Given the description of an element on the screen output the (x, y) to click on. 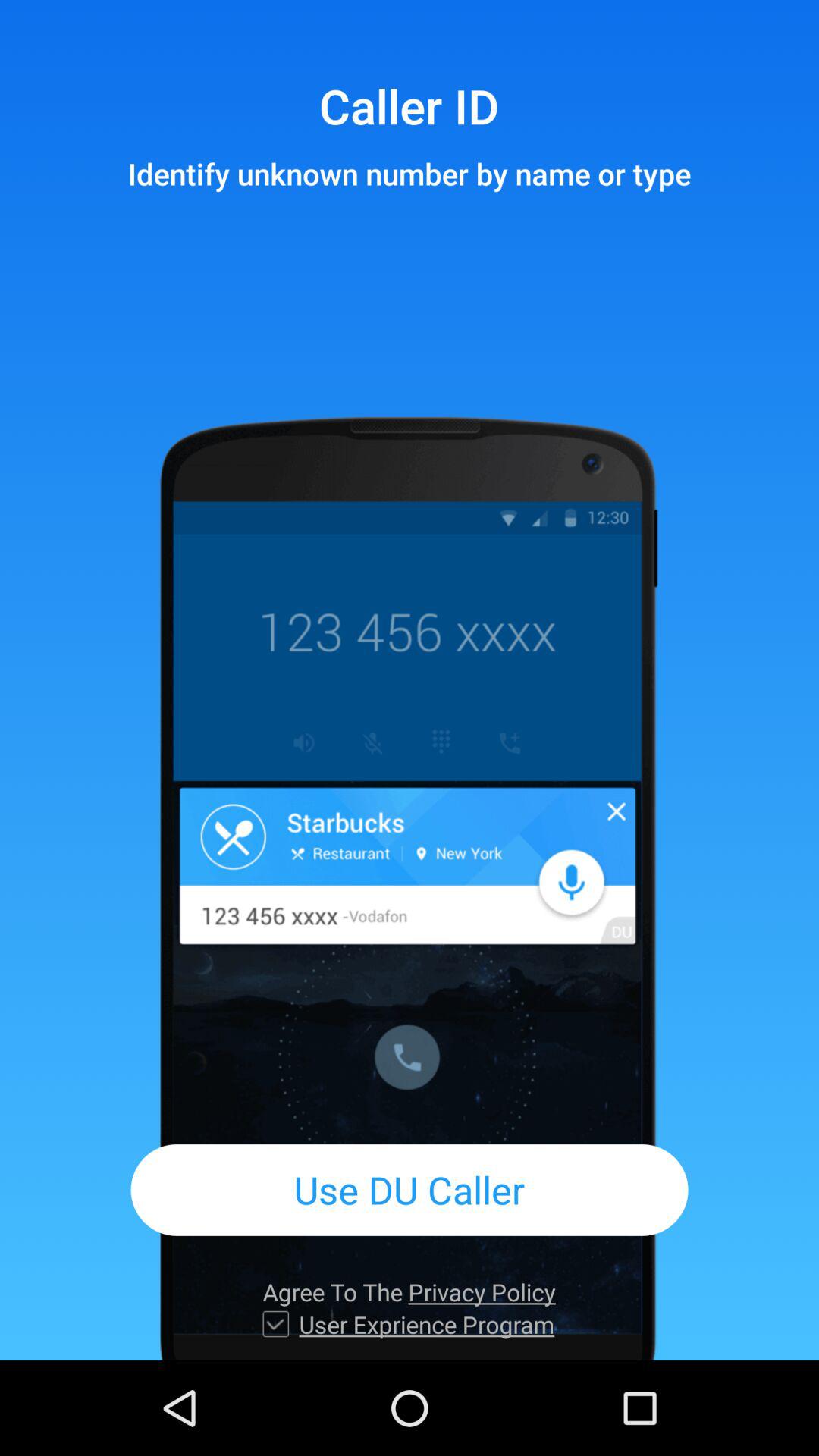
click the icon to the left of the user exprience program (275, 1323)
